Given the description of an element on the screen output the (x, y) to click on. 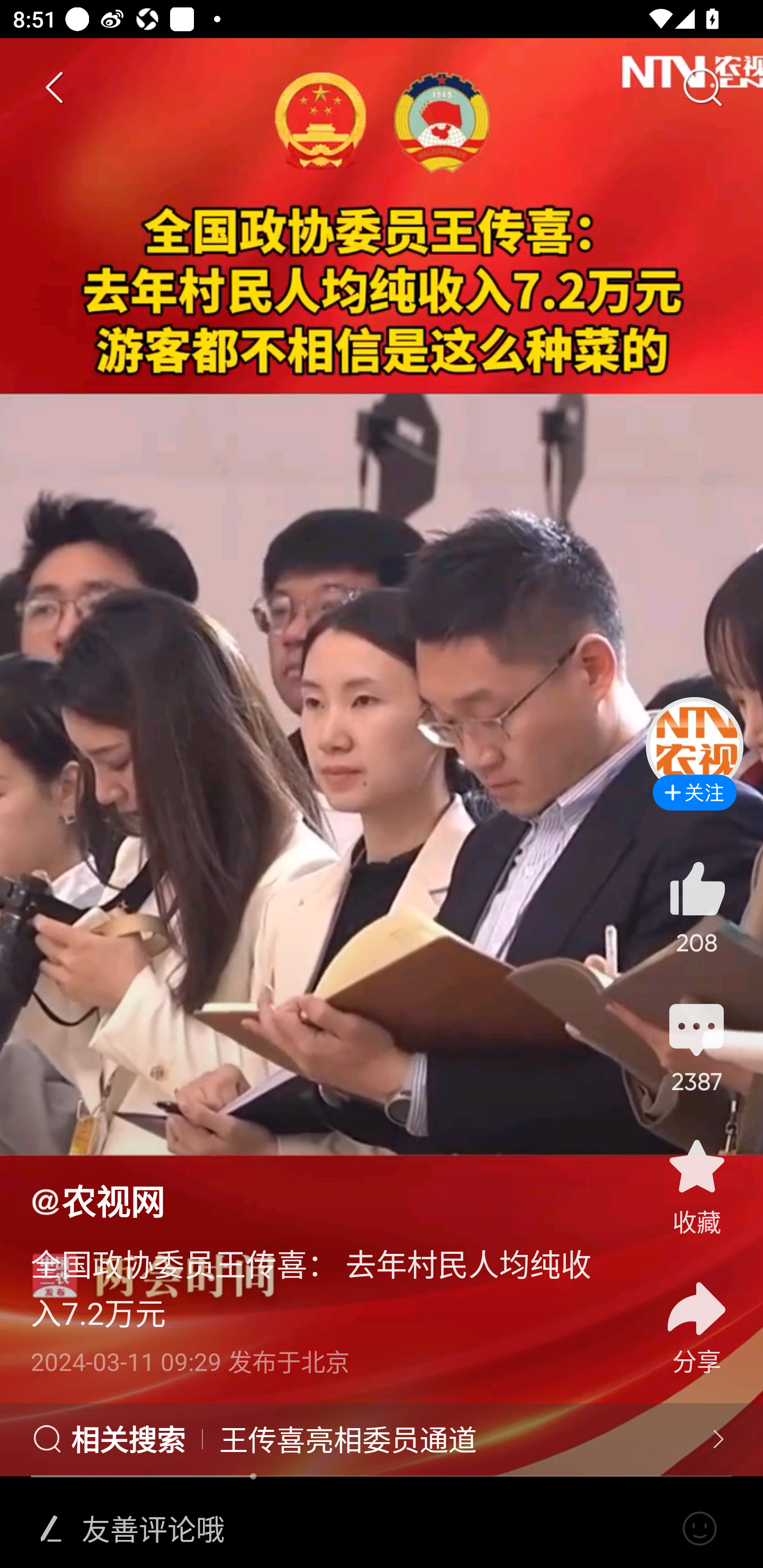
 返回 (54, 87)
 搜索 (701, 87)
赞 208 (696, 906)
评论  2387 (696, 1045)
收藏 (696, 1184)
农视网 (97, 1200)
全国政协委员王传喜： 去年村民人均纯收入7.2万元 2024-03-11 09:29 发布于北京 (321, 1300)
分享  分享 (696, 1315)
相关搜索 王传喜亮相委员通道  (381, 1440)
友善评论哦 发表评论 (373, 1529)
 (50, 1528)
 (699, 1528)
